Given the description of an element on the screen output the (x, y) to click on. 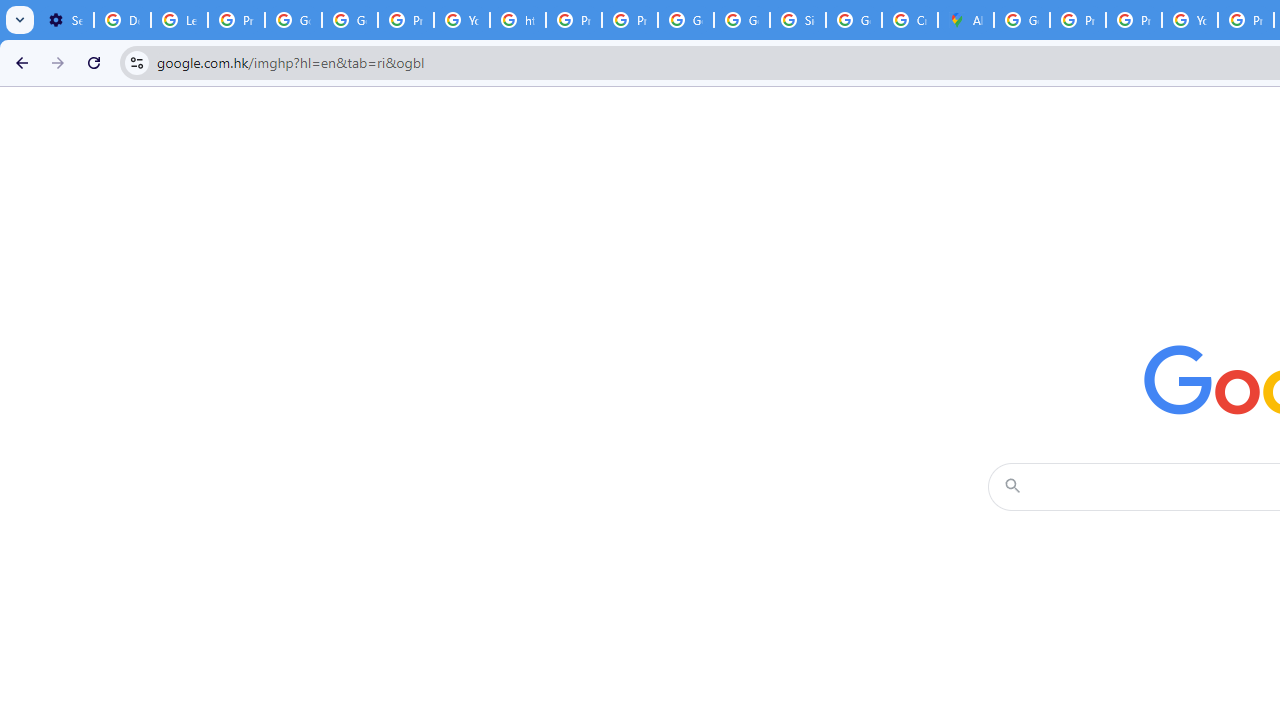
Sign in - Google Accounts (797, 20)
Delete photos & videos - Computer - Google Photos Help (122, 20)
Google Account Help (349, 20)
https://scholar.google.com/ (518, 20)
Google Account Help (293, 20)
Privacy Help Center - Policies Help (1133, 20)
Privacy Help Center - Policies Help (1077, 20)
